Given the description of an element on the screen output the (x, y) to click on. 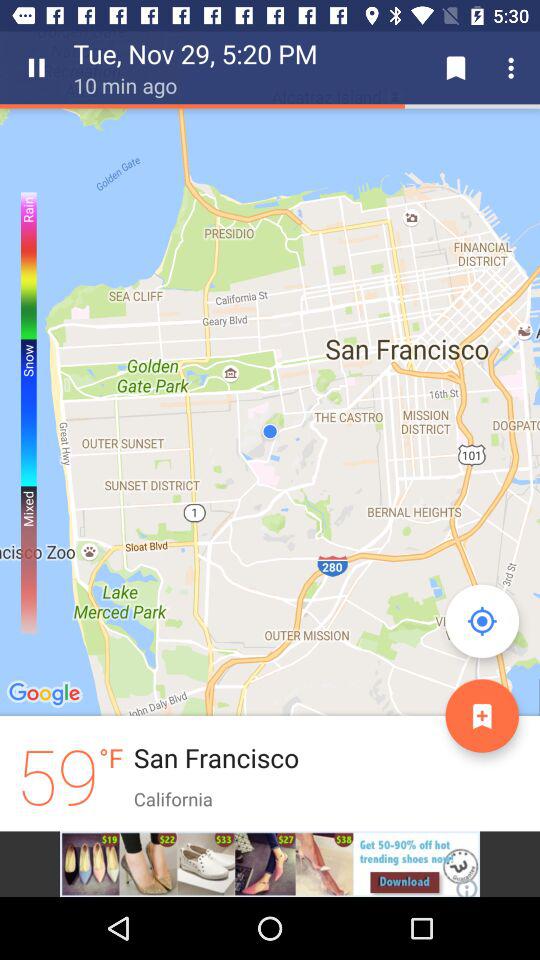
show my location (482, 621)
